Given the description of an element on the screen output the (x, y) to click on. 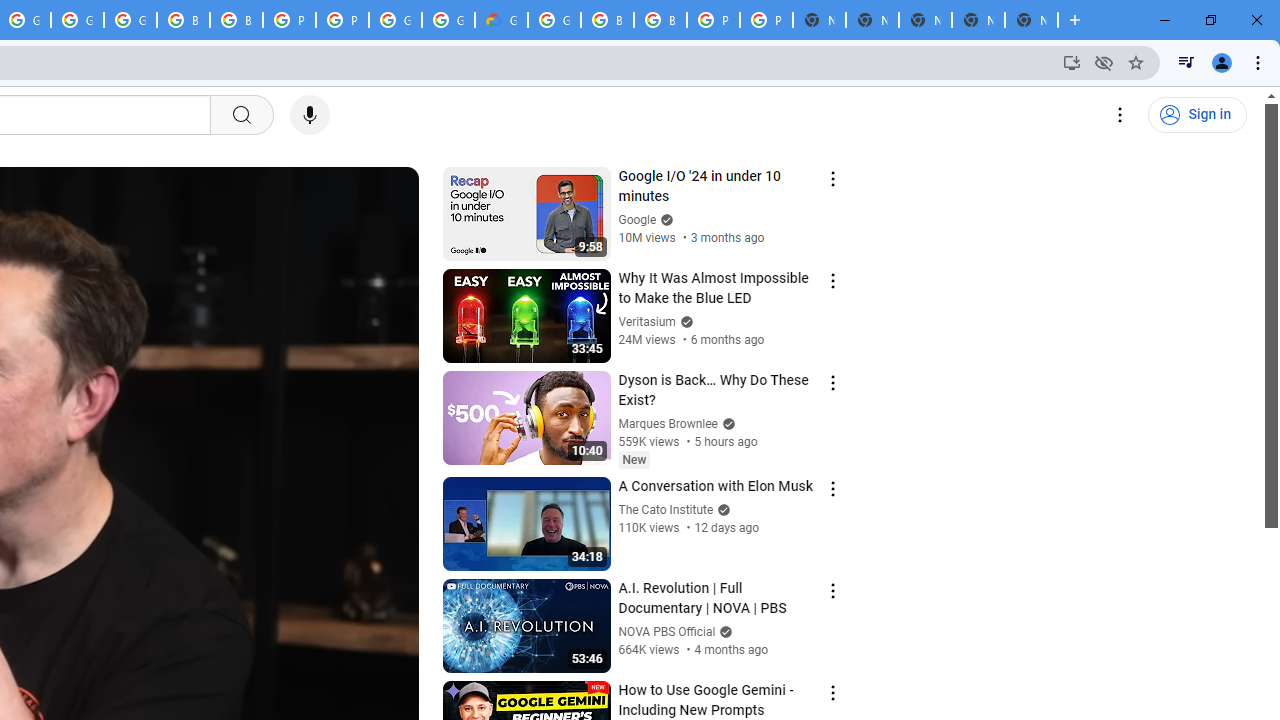
Browse Chrome as a guest - Computer - Google Chrome Help (183, 20)
Google Cloud Estimate Summary (501, 20)
Google Cloud Platform (448, 20)
